Given the description of an element on the screen output the (x, y) to click on. 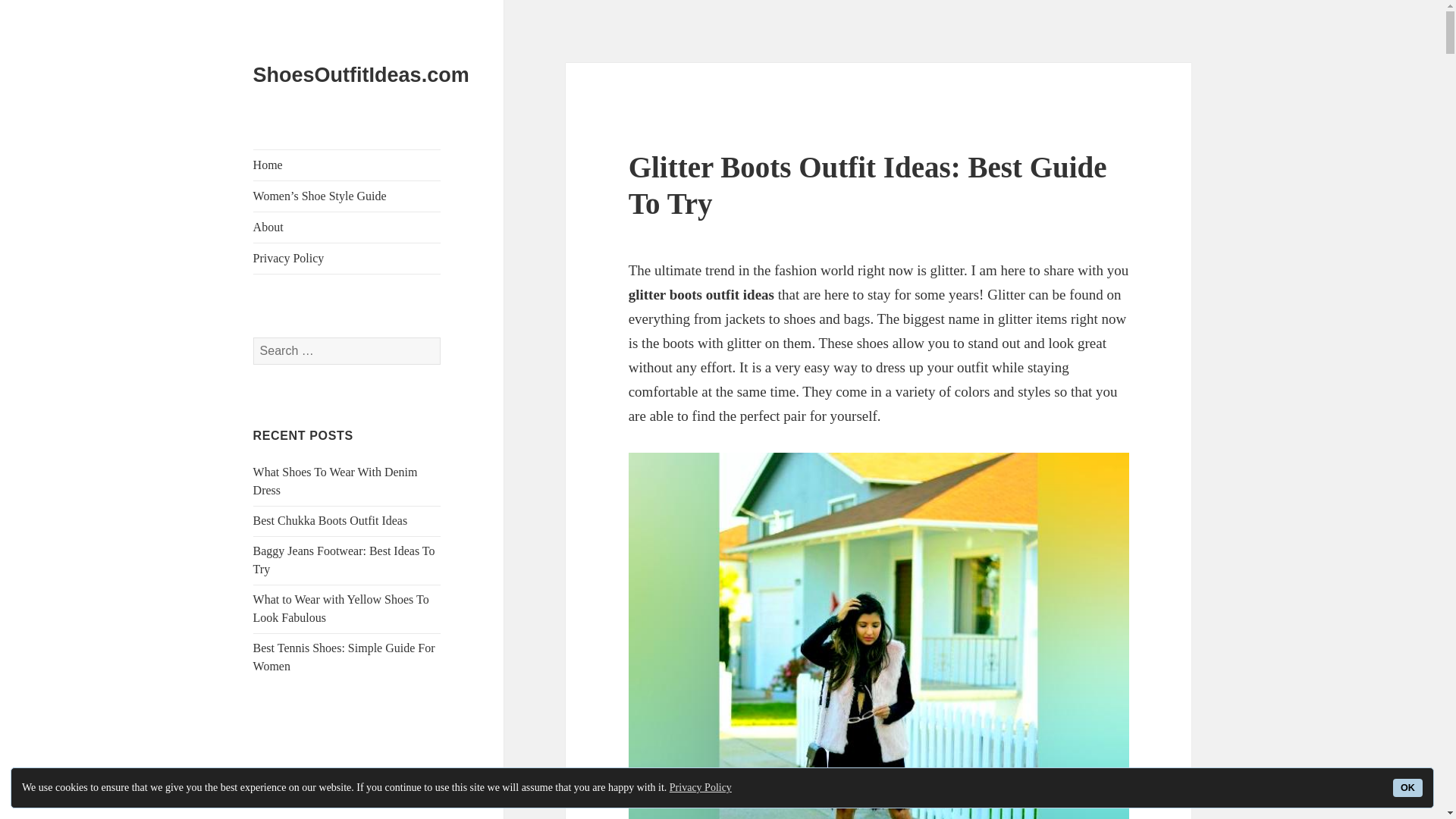
Privacy Policy (700, 787)
What Shoes To Wear With Denim Dress (335, 481)
Best Chukka Boots Outfit Ideas (330, 520)
What to Wear with Yellow Shoes To Look Fabulous (341, 608)
ShoesOutfitIdeas.com (360, 74)
OK (1407, 787)
About (347, 227)
Baggy Jeans Footwear: Best Ideas To Try (344, 559)
Home (347, 164)
Best Tennis Shoes: Simple Guide For Women (344, 656)
Privacy Policy (347, 258)
